Given the description of an element on the screen output the (x, y) to click on. 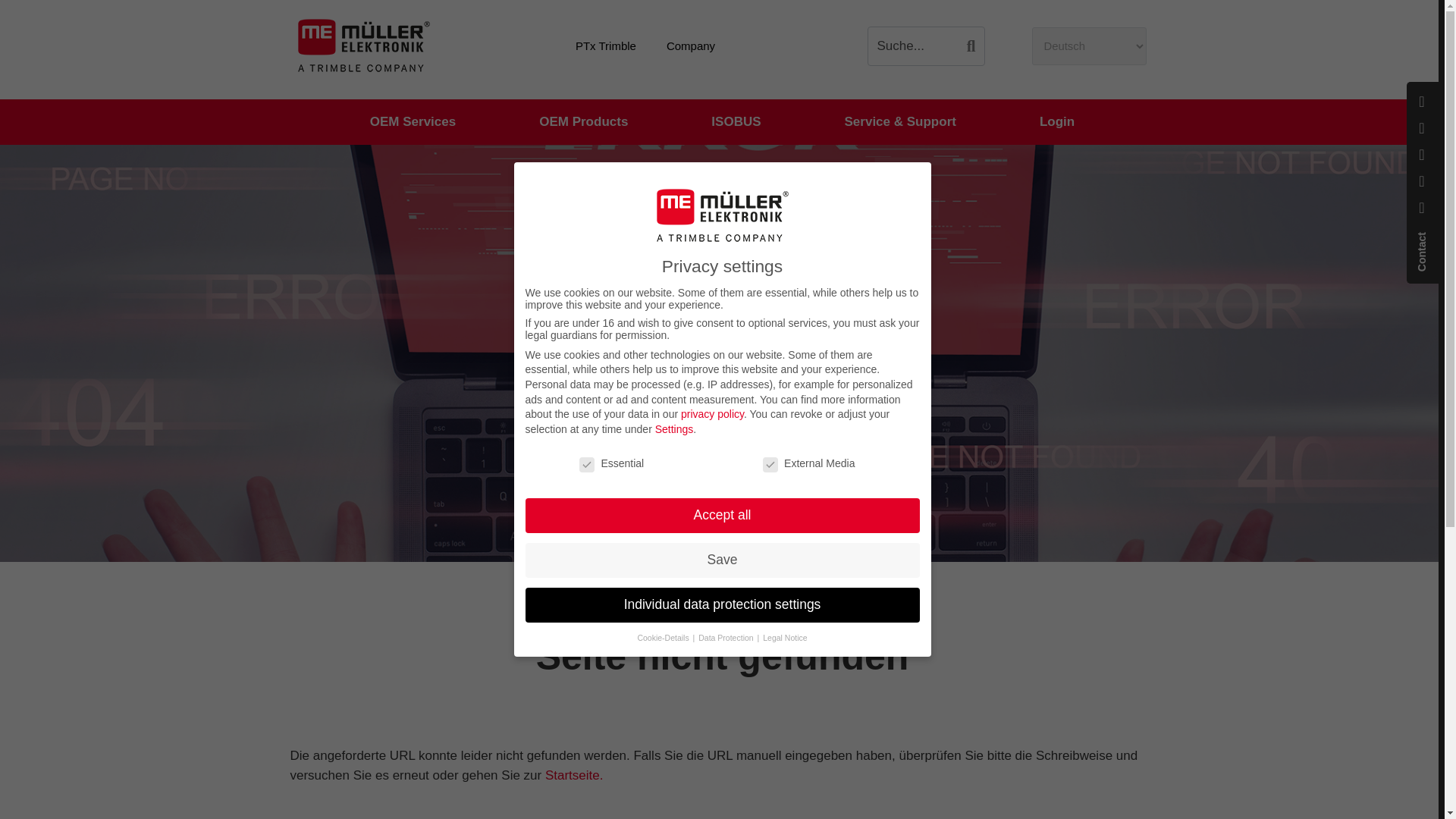
OEM Services (412, 122)
OEM Products (583, 122)
ISOBUS (735, 122)
Login (1057, 122)
PTx Trimble (605, 45)
Homepage (636, 379)
Startseite. (574, 775)
Company (690, 45)
